Given the description of an element on the screen output the (x, y) to click on. 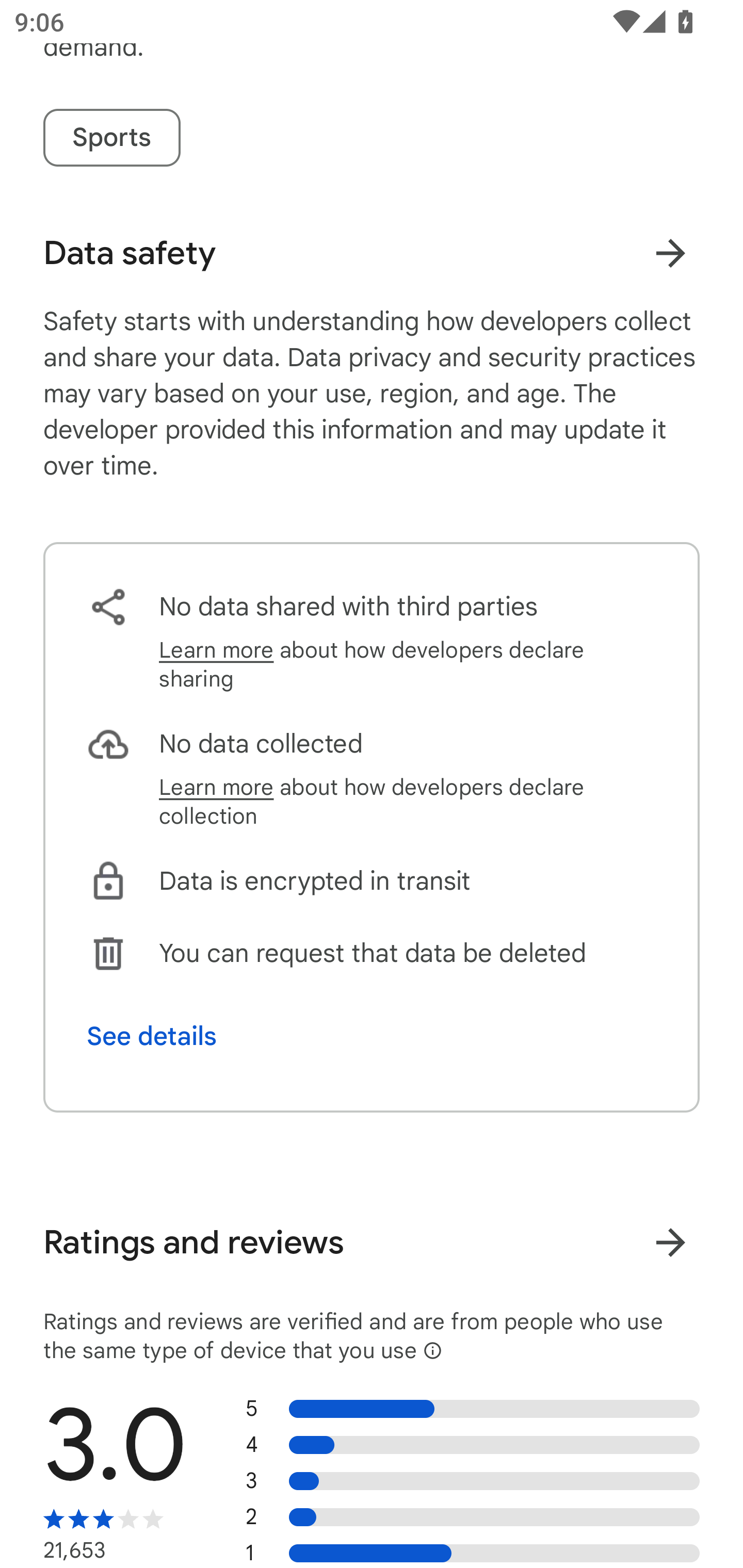
Sports tag (111, 137)
Data safety Learn more about data safety (371, 253)
Learn more about data safety (670, 253)
Learn more about how developers declare sharing (407, 664)
Learn more about how developers declare collection (407, 801)
See details (151, 1037)
Ratings and reviews View all ratings and reviews (371, 1242)
View all ratings and reviews (670, 1242)
